Given the description of an element on the screen output the (x, y) to click on. 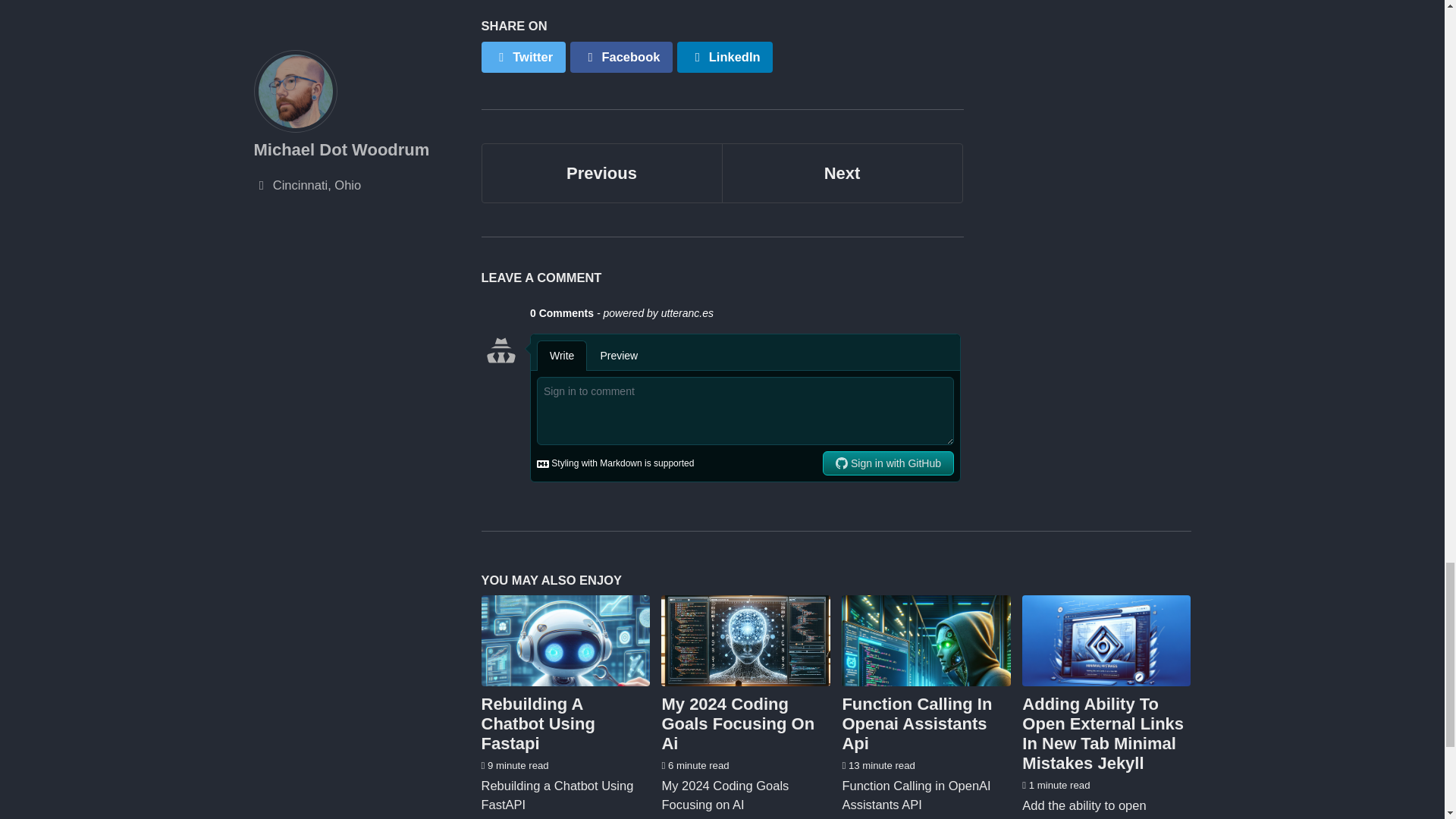
Twitter (522, 56)
Share on LinkedIn (725, 56)
My 2024 Coding Goals Focusing On Ai (842, 173)
LinkedIn (737, 723)
Function Calling In Openai Assistants Api (725, 56)
Rebuilding A Chatbot Using Fastapi (916, 723)
Comments (537, 723)
Share on Facebook (601, 173)
Previous (721, 395)
Facebook (621, 56)
Next (601, 173)
Share on Twitter (621, 56)
